Given the description of an element on the screen output the (x, y) to click on. 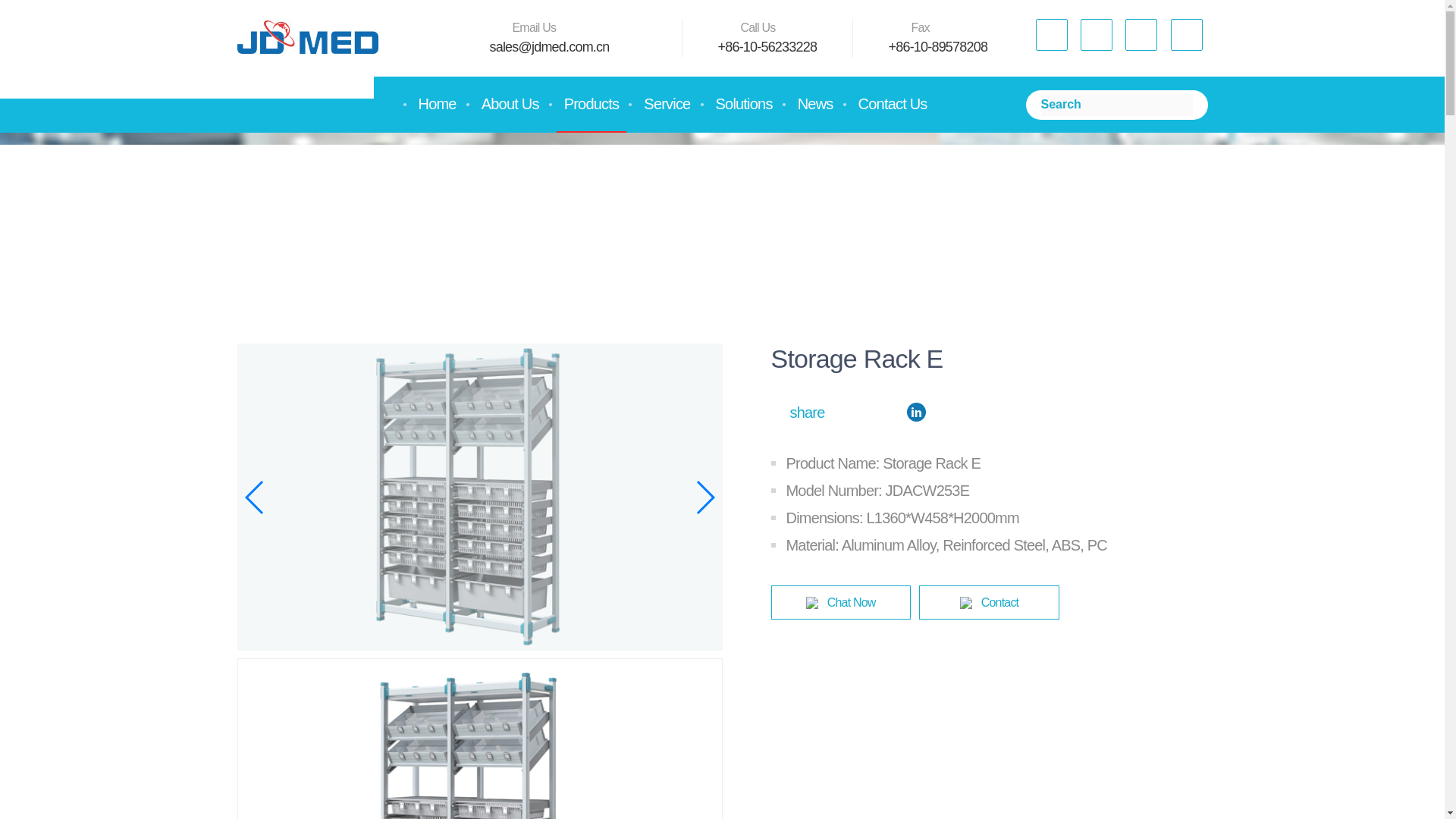
Home (437, 103)
Service (666, 103)
Contact Us (892, 103)
Beijing Jingdong Technology Co., Ltd. (306, 37)
News (815, 103)
About Us (510, 103)
Products (591, 103)
Storage Rack E (480, 743)
Solutions (743, 103)
